Given the description of an element on the screen output the (x, y) to click on. 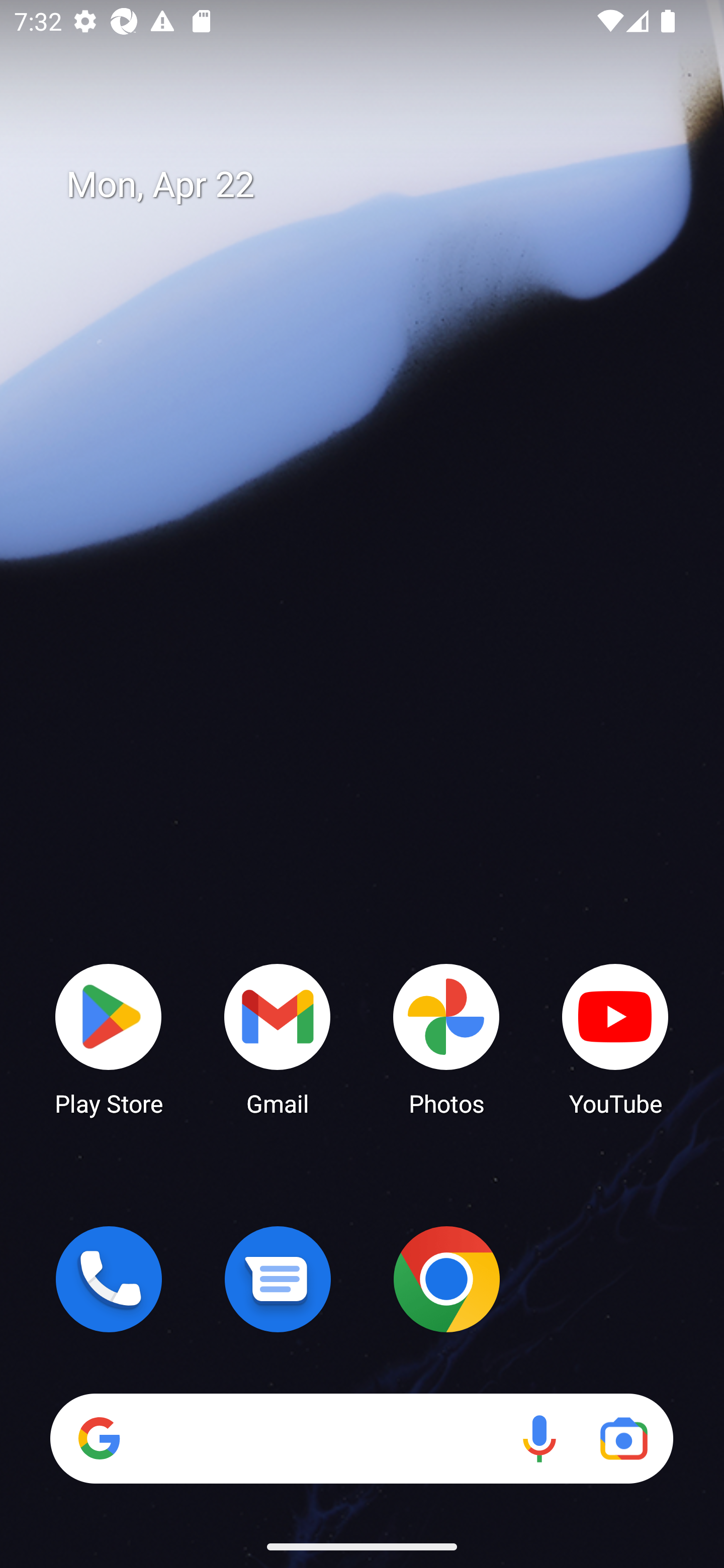
Mon, Apr 22 (375, 184)
Play Store (108, 1038)
Gmail (277, 1038)
Photos (445, 1038)
YouTube (615, 1038)
Phone (108, 1279)
Messages (277, 1279)
Chrome (446, 1279)
Search Voice search Google Lens (361, 1438)
Voice search (539, 1438)
Google Lens (623, 1438)
